Given the description of an element on the screen output the (x, y) to click on. 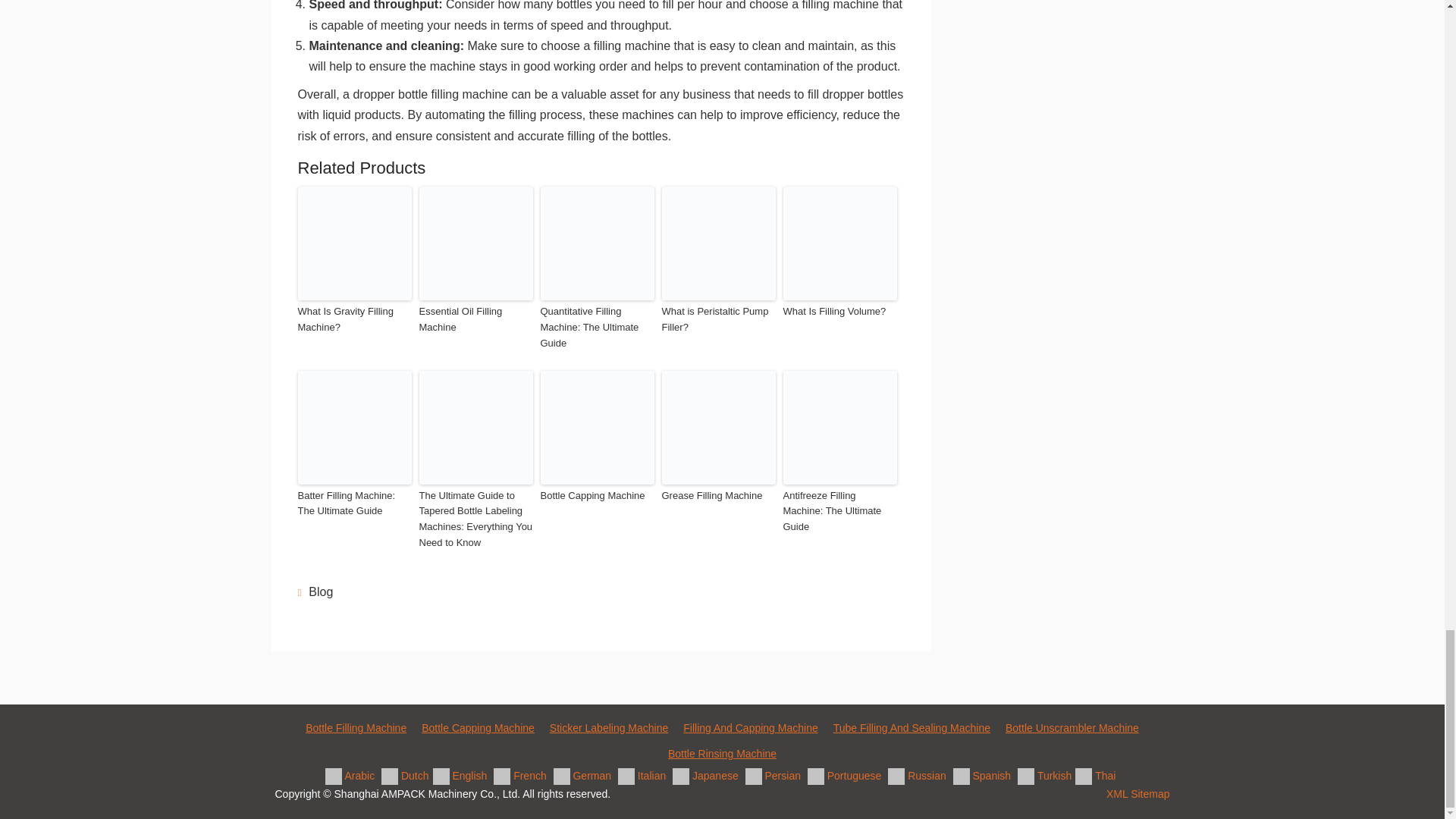
Japanese (707, 775)
French (521, 775)
Arabic (351, 775)
Thai (1097, 775)
Spanish (983, 775)
Italian (643, 775)
Russian (918, 775)
Turkish (1046, 775)
English (462, 775)
Dutch (406, 775)
